Given the description of an element on the screen output the (x, y) to click on. 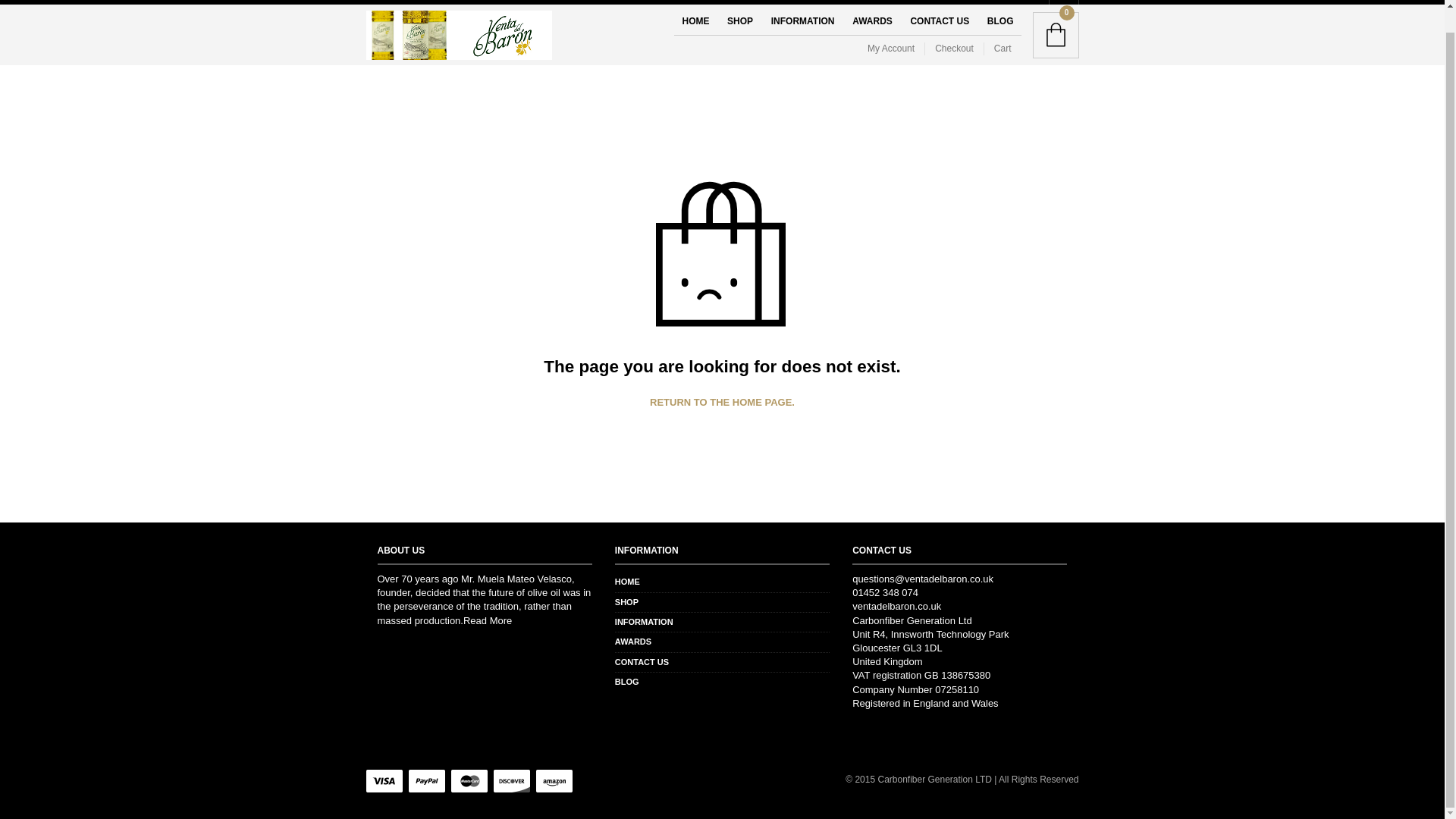
Read More (487, 620)
HOME (695, 21)
0 (1055, 35)
INFORMATION (802, 21)
Checkout (954, 48)
CONTACT US (641, 661)
BLOG (1000, 21)
RETURN TO THE HOME PAGE. (721, 402)
AWARDS (632, 641)
CONTACT US (939, 21)
SHOP (739, 21)
AWARDS (871, 21)
BLOG (626, 681)
Cart (1003, 48)
My Account (895, 48)
